Given the description of an element on the screen output the (x, y) to click on. 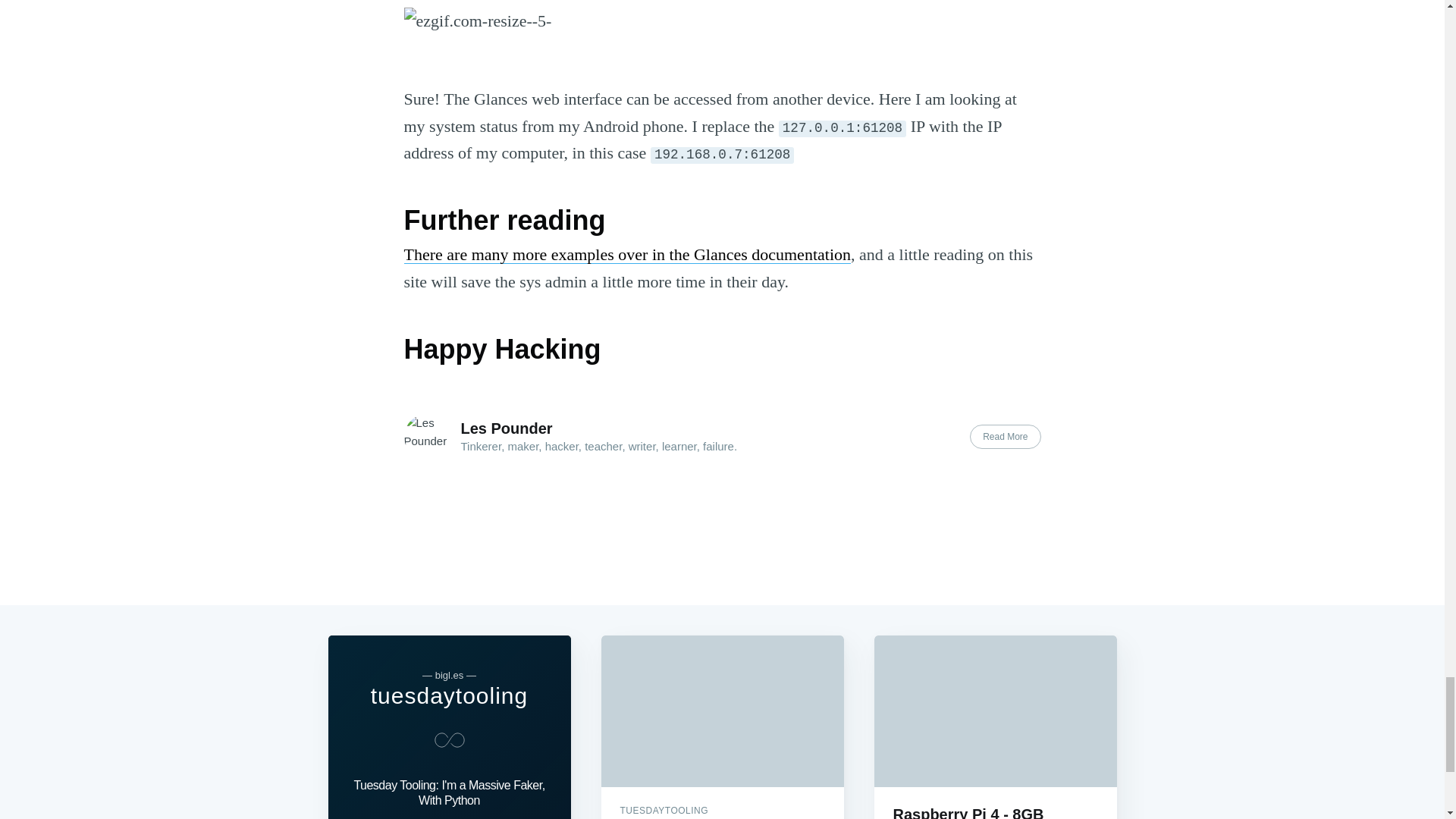
Tuesday Tooling: I'm a Massive Faker, With Python (449, 794)
Les Pounder (507, 428)
Read More (1005, 436)
tuesdaytooling (449, 695)
